Given the description of an element on the screen output the (x, y) to click on. 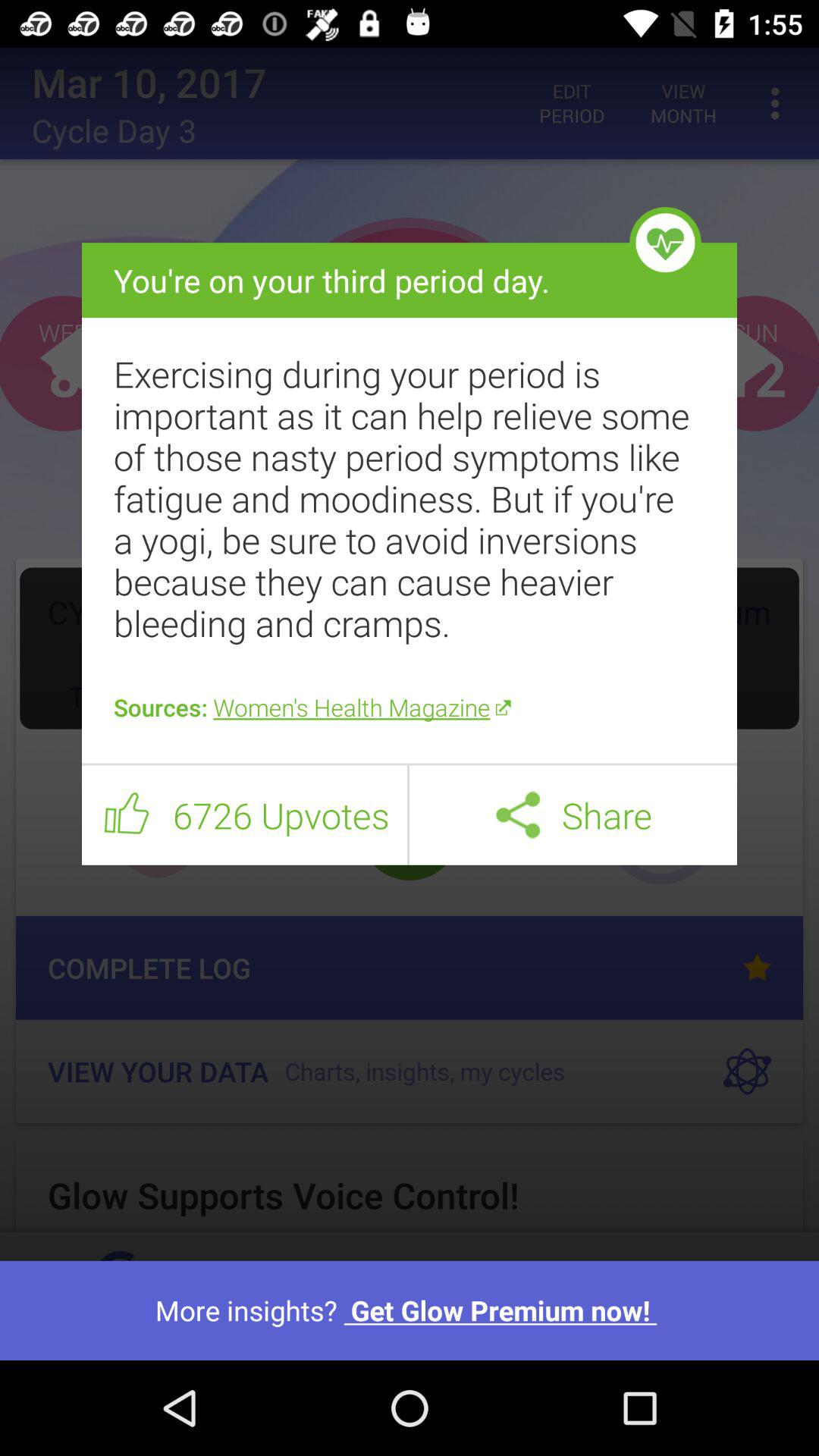
press the sources women s (409, 707)
